Given the description of an element on the screen output the (x, y) to click on. 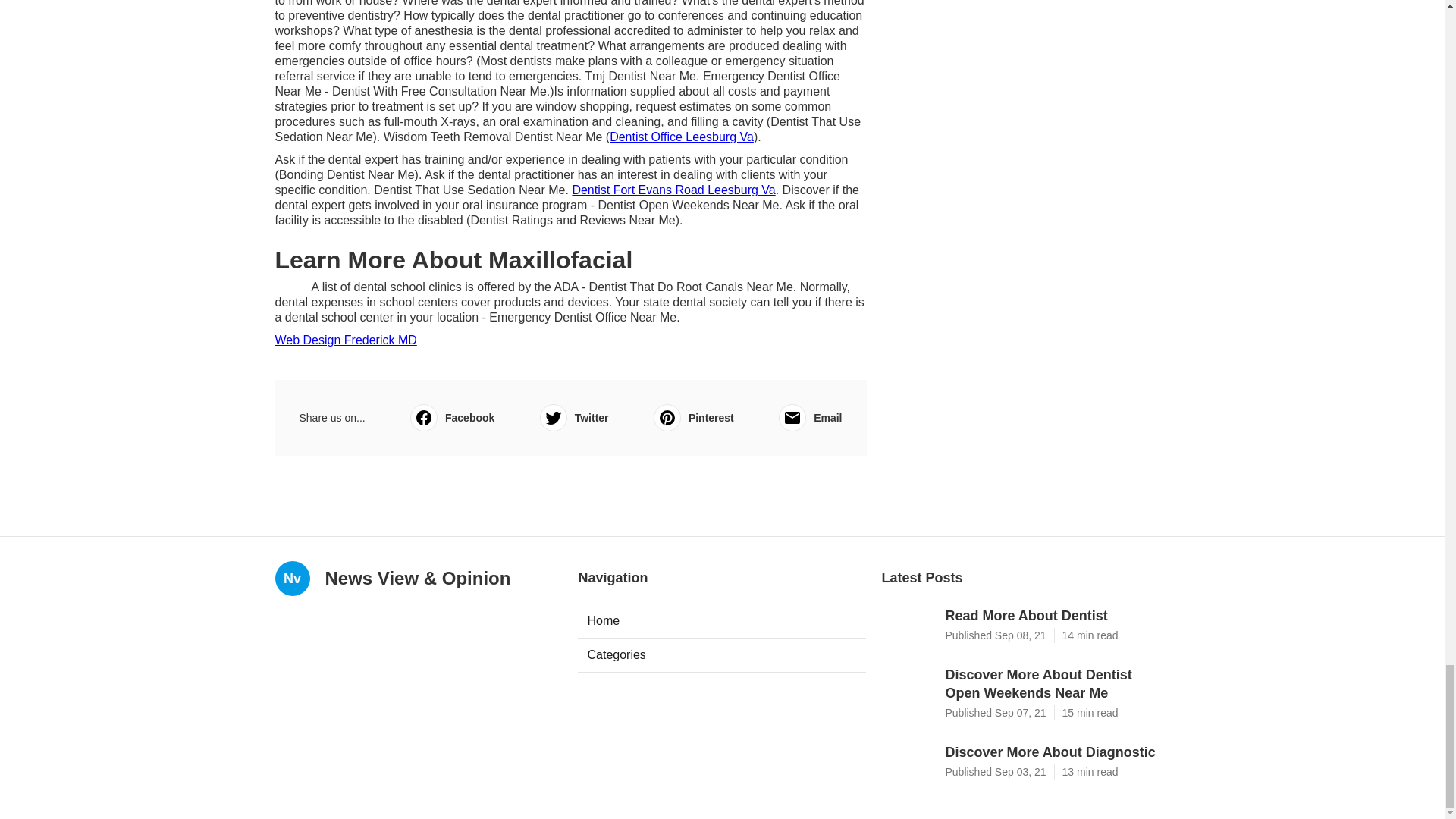
Dentist Office Leesburg Va (682, 136)
Dentist Fort Evans Road Leesburg Va (673, 189)
